Given the description of an element on the screen output the (x, y) to click on. 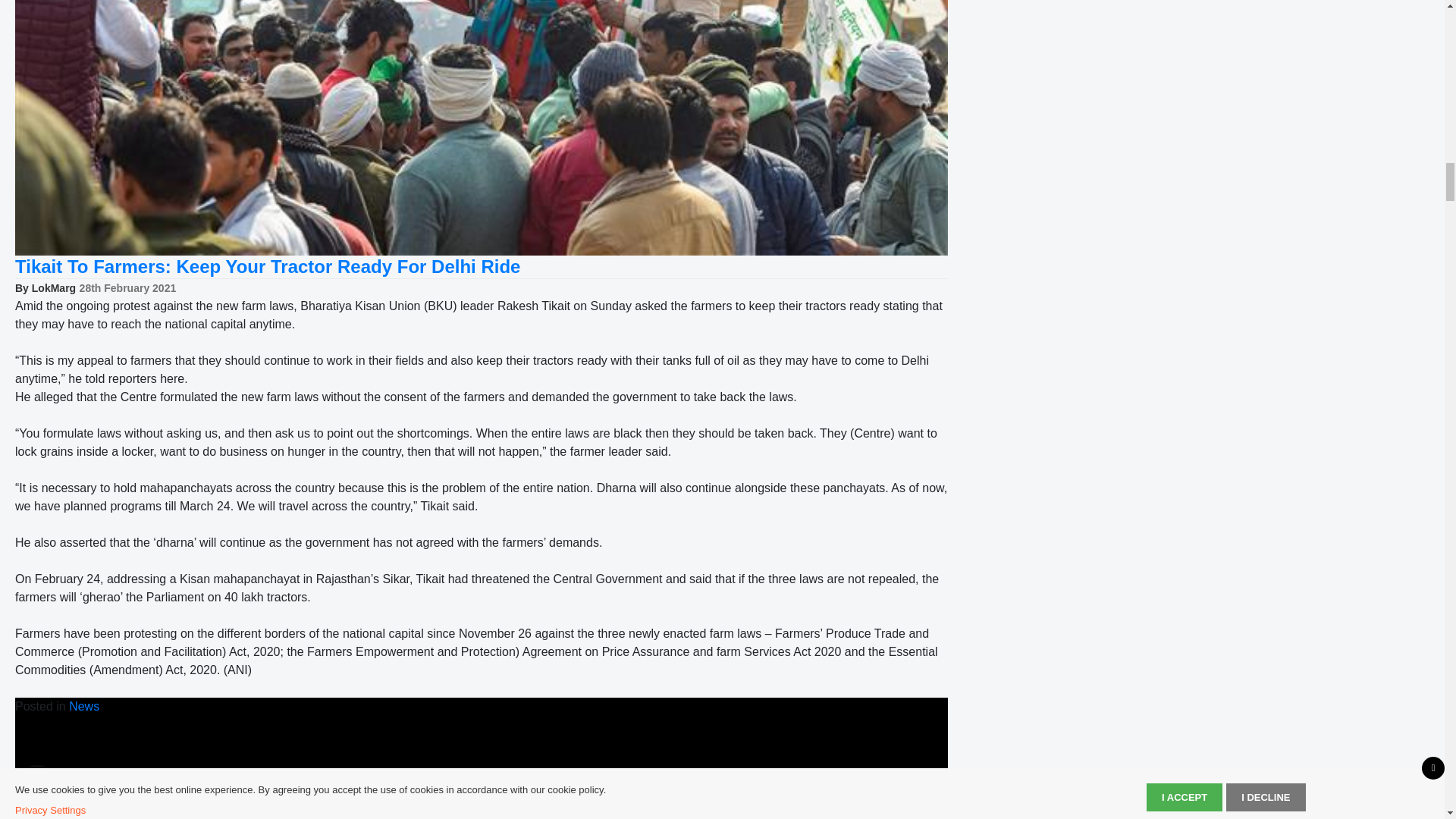
News (83, 706)
Tikait To Farmers: Keep Your Tractor Ready For Delhi Ride (266, 266)
LokMarg (53, 287)
